Given the description of an element on the screen output the (x, y) to click on. 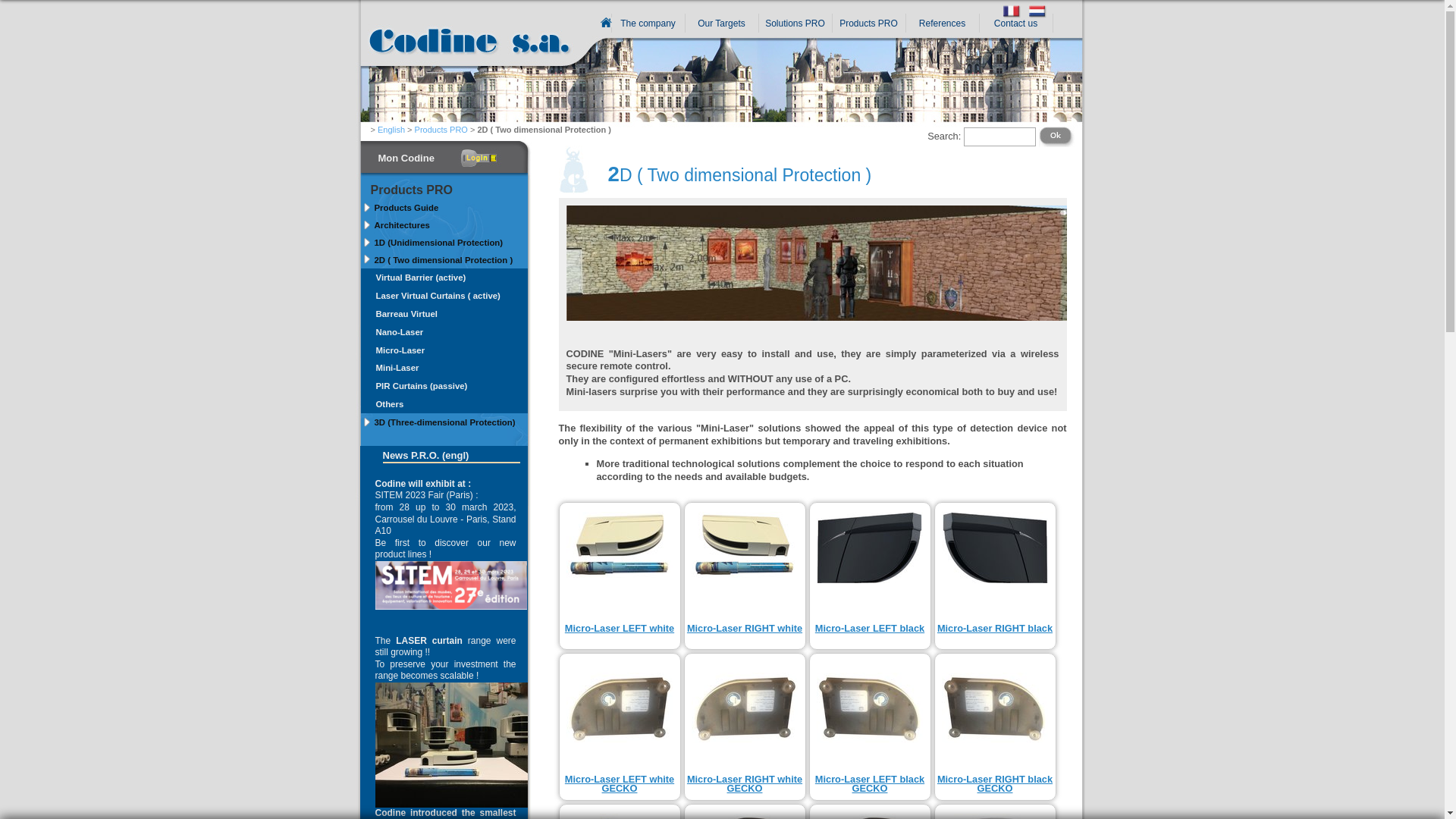
Laser Virtual Curtains ( active) Element type: text (443, 295)
Virtual Barrier (active) Element type: text (443, 277)
Home Element type: hover (605, 22)
Search Element type: hover (1056, 136)
Micro-Laser RIGHT black Element type: text (994, 627)
Micro-Laser LEFT black GECKO Element type: text (869, 783)
English Element type: text (390, 129)
Mini-Laser Element type: text (443, 367)
Others Element type: text (443, 404)
Micro-Laser LEFT black Element type: text (869, 627)
Mon Codine Element type: text (434, 153)
Micro-Laser Element type: text (443, 350)
Products PRO Element type: text (868, 23)
Solutions PRO Element type: text (794, 23)
References Element type: text (941, 23)
The company Element type: text (647, 23)
PIR Curtains (passive) Element type: text (443, 385)
Contact us Element type: text (1016, 23)
Micro-Laser RIGHT white Element type: text (744, 627)
Barreau Virtuel Element type: text (443, 313)
Micro-Laser RIGHT black GECKO Element type: text (994, 783)
Micro-Laser LEFT white GECKO Element type: text (619, 783)
Micro-Laser LEFT white Element type: text (619, 627)
Our Targets Element type: text (721, 23)
Home Element type: hover (456, 56)
Nano-Laser Element type: text (443, 332)
Nederlands Element type: hover (1037, 15)
Micro-Laser RIGHT white GECKO Element type: text (744, 783)
Products PRO Element type: text (440, 129)
